Given the description of an element on the screen output the (x, y) to click on. 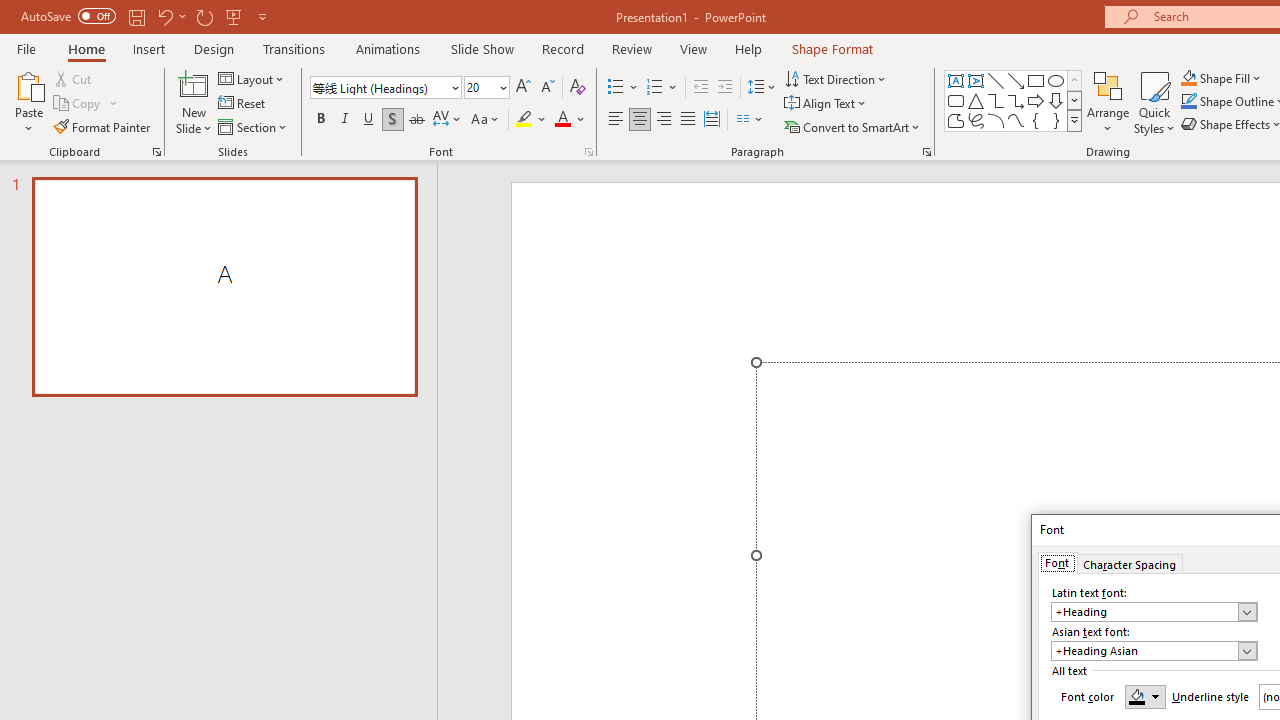
Asian text font (1154, 650)
